Given the description of an element on the screen output the (x, y) to click on. 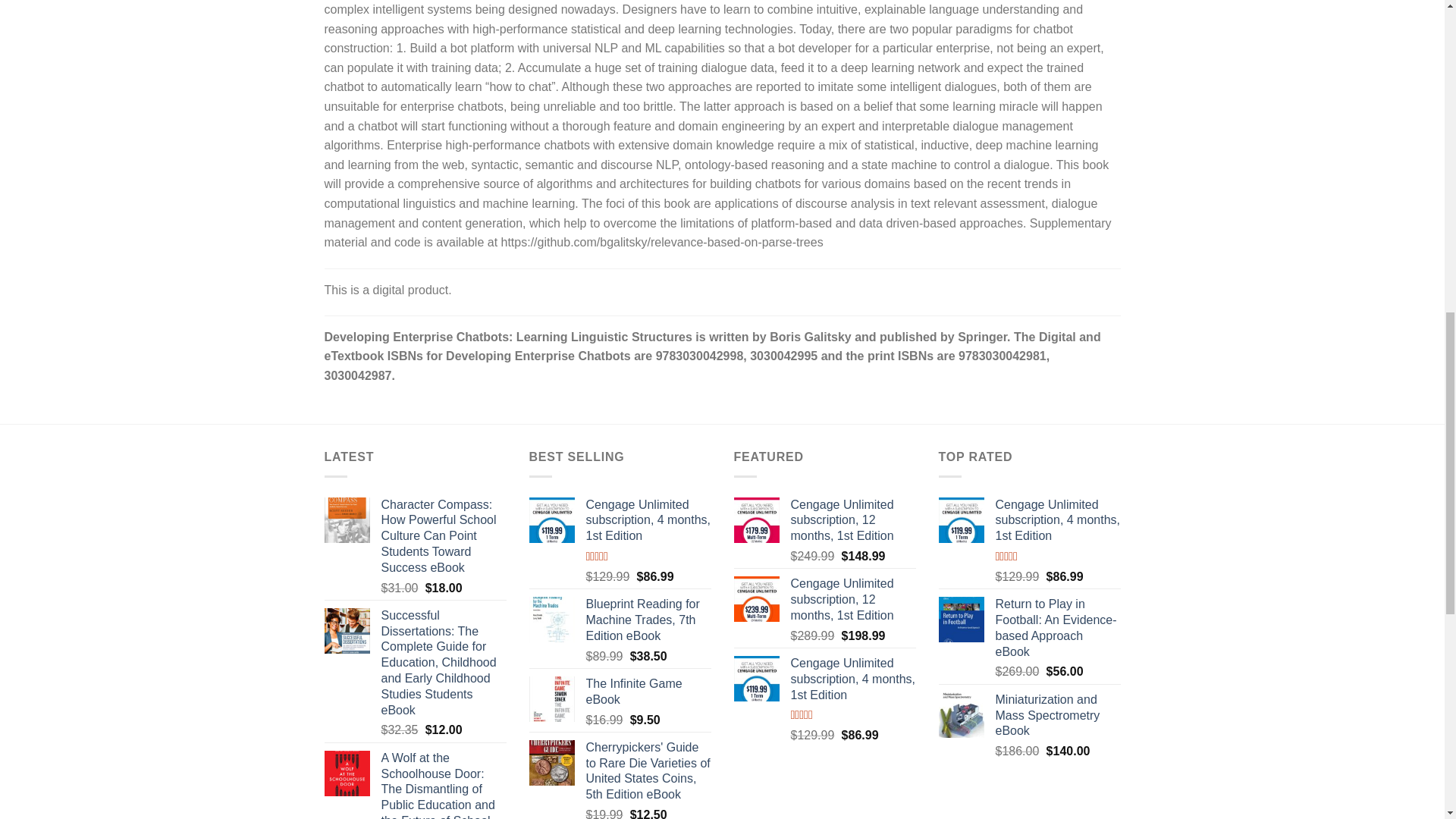
Blueprint Reading for Machine Trades, 7th Edition eBook (647, 620)
Cengage Unlimited subscription, 4 months, 1st Edition (647, 520)
